Given the description of an element on the screen output the (x, y) to click on. 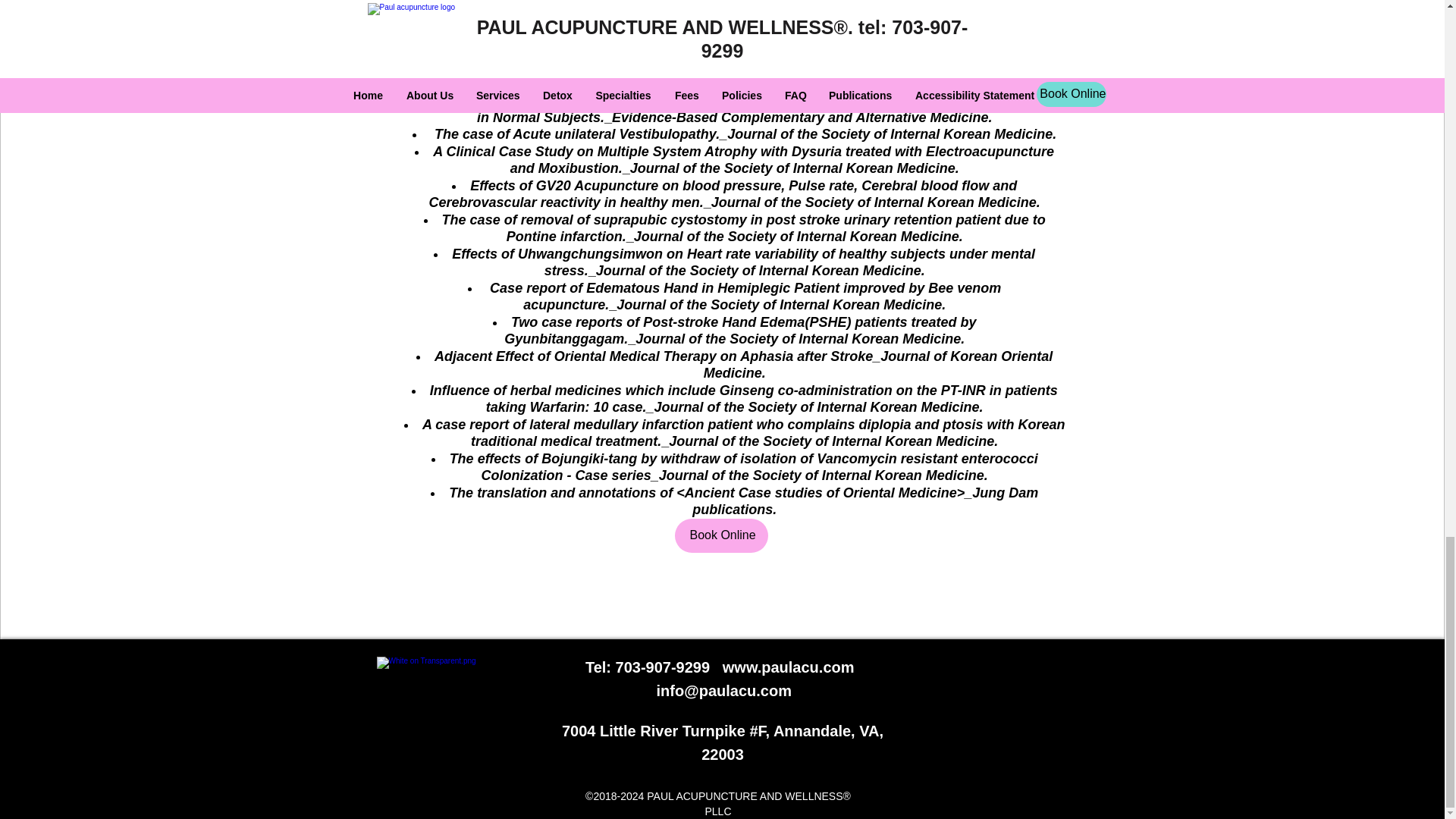
Book Online (721, 535)
www.paulacu.com (788, 667)
